Given the description of an element on the screen output the (x, y) to click on. 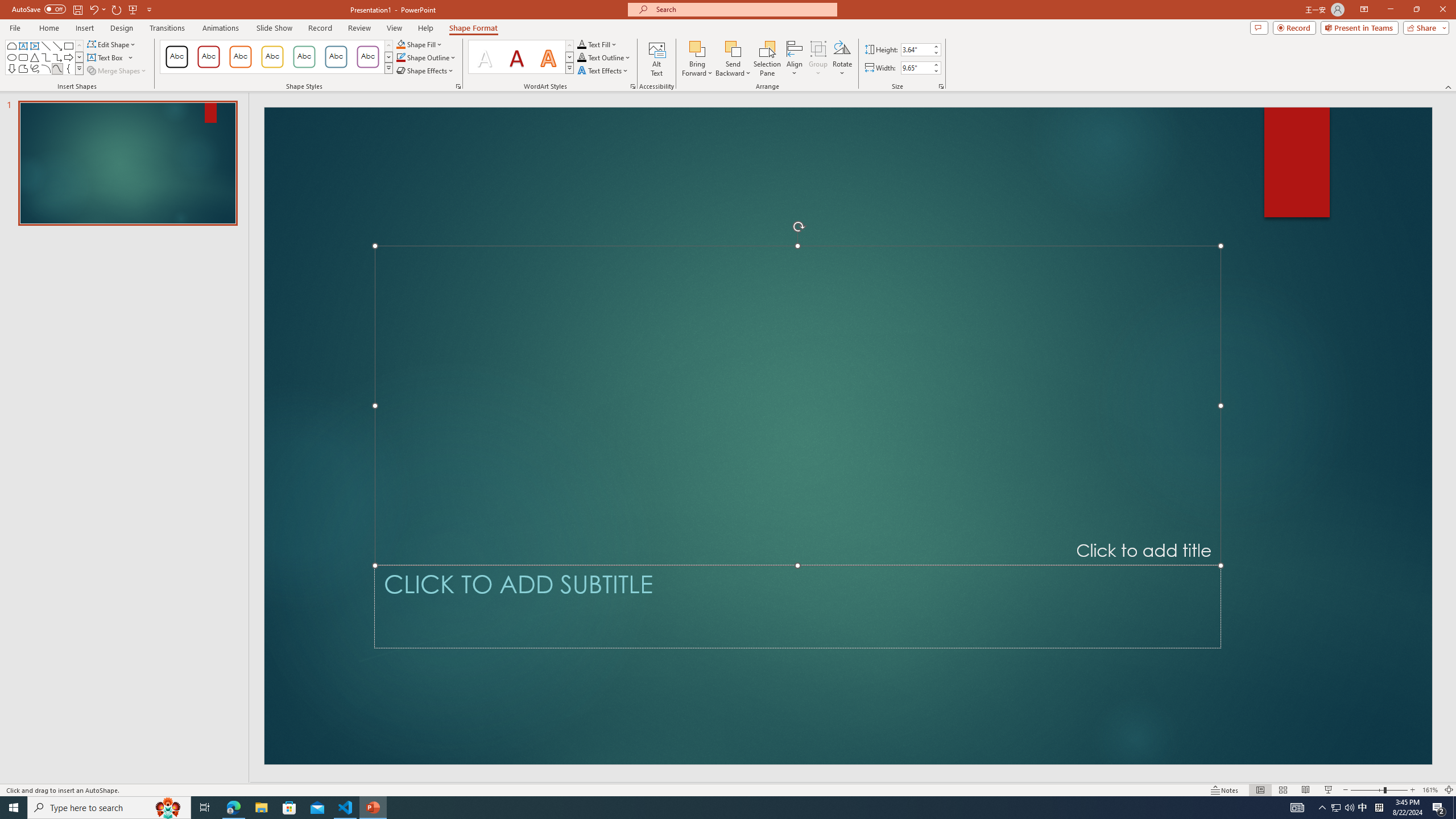
Zoom Out (1367, 790)
Send Backward (733, 58)
Connector: Elbow Arrow (57, 57)
Slide Show (1328, 790)
Ribbon Display Options (1364, 9)
Shapes (78, 68)
Vertical Text Box (34, 45)
Format Text Effects... (632, 85)
Shape Fill (419, 44)
Customize Quick Access Toolbar (149, 9)
AutomationID: ShapeStylesGallery (276, 56)
More Options (733, 68)
Record (320, 28)
Transitions (167, 28)
Present in Teams (1359, 27)
